Given the description of an element on the screen output the (x, y) to click on. 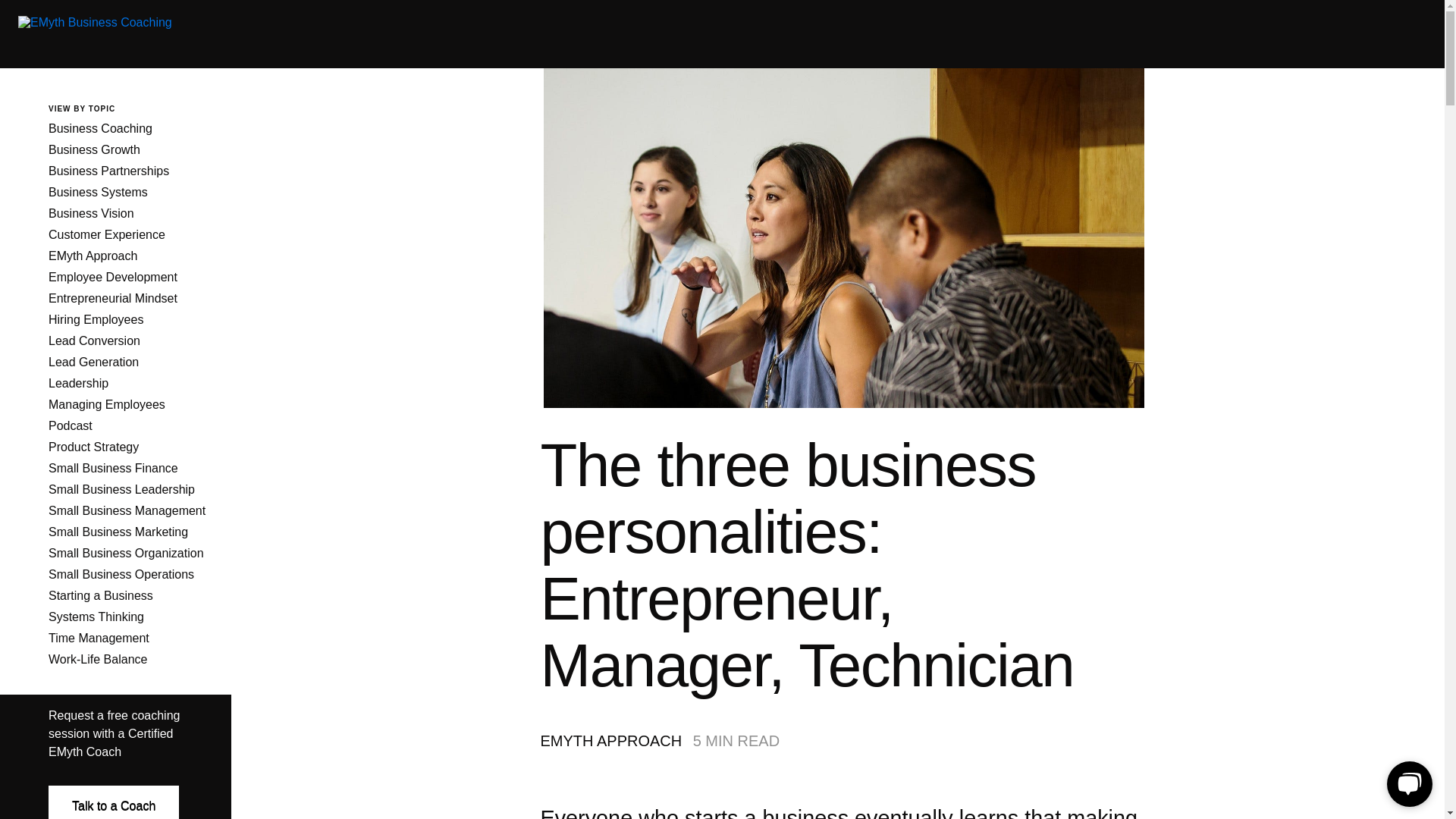
Business Growth (93, 148)
EMyth Approach (92, 254)
Leadership (77, 382)
Business Coaching (100, 127)
Small Business Organization (125, 552)
Business Vision (90, 212)
Small Business Leadership (121, 488)
Customer Experience (106, 233)
Managing Employees (106, 403)
Time Management (98, 636)
Podcast (70, 424)
Small Business Marketing (117, 530)
Talk to a Coach (113, 802)
Business Systems (98, 191)
Talk to a Coach (113, 802)
